Given the description of an element on the screen output the (x, y) to click on. 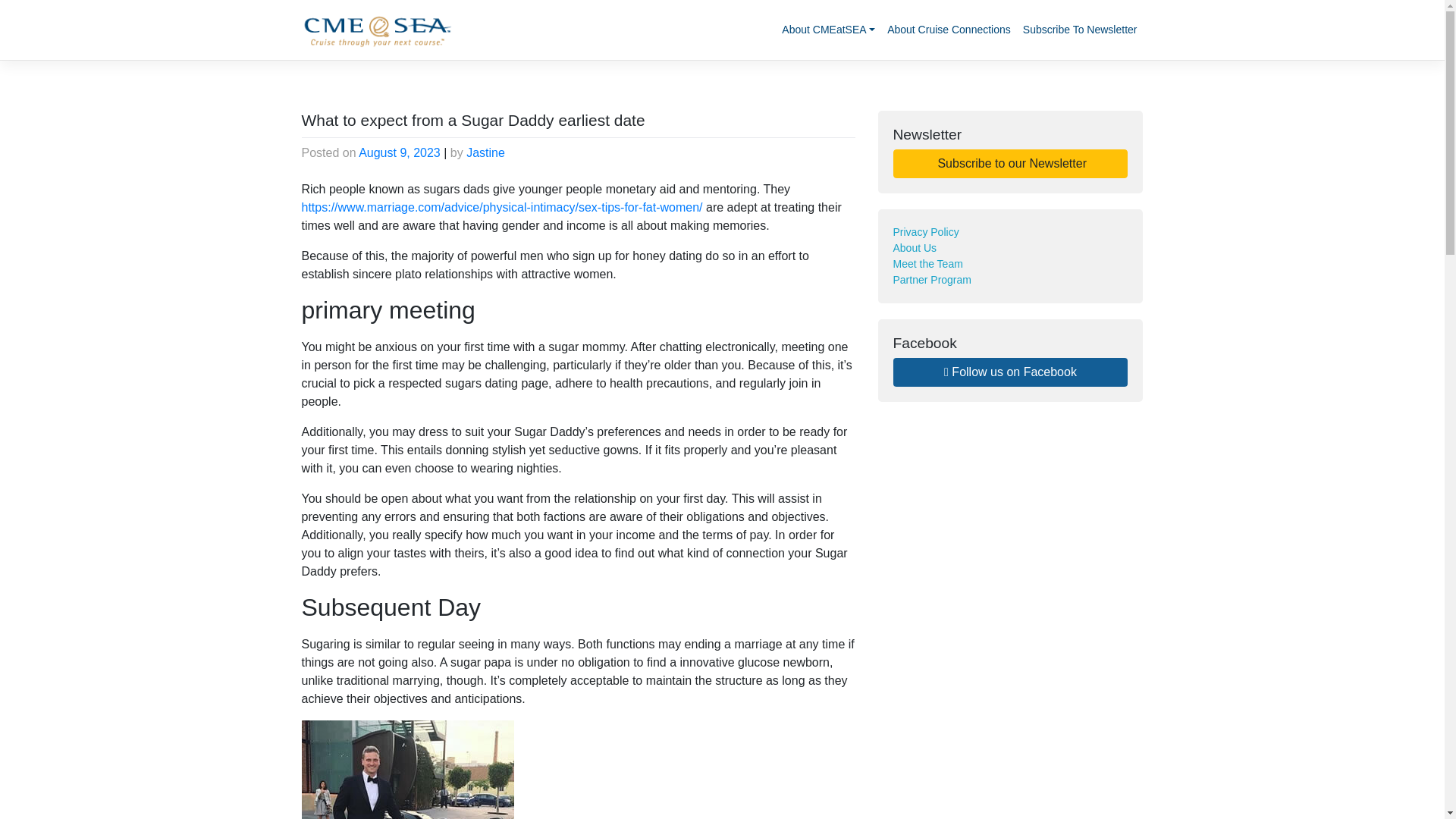
Subscribe To Newsletter (1079, 29)
Subscribe To Newsletter (1079, 29)
About CMEatSEA (828, 29)
About Cruise Connections (948, 29)
About Cruise Connections (948, 29)
About CMEatSEA (828, 29)
